Given the description of an element on the screen output the (x, y) to click on. 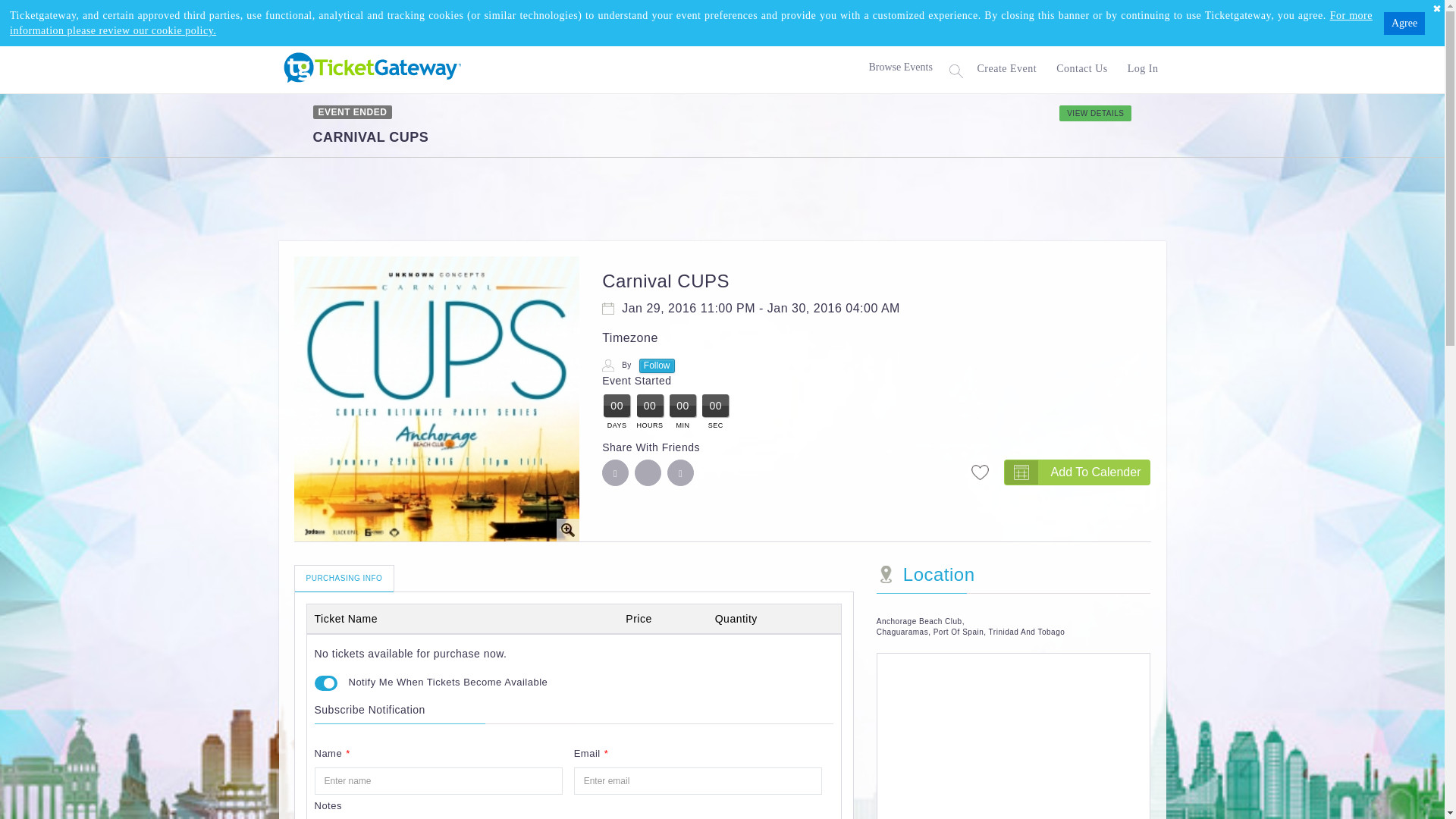
VIEW DETAILS (1095, 113)
For more information please review our cookie policy. (691, 22)
Contact Us (1081, 69)
Agree (1404, 23)
Log In (1139, 69)
Beta (368, 64)
Create Event (1006, 69)
